Given the description of an element on the screen output the (x, y) to click on. 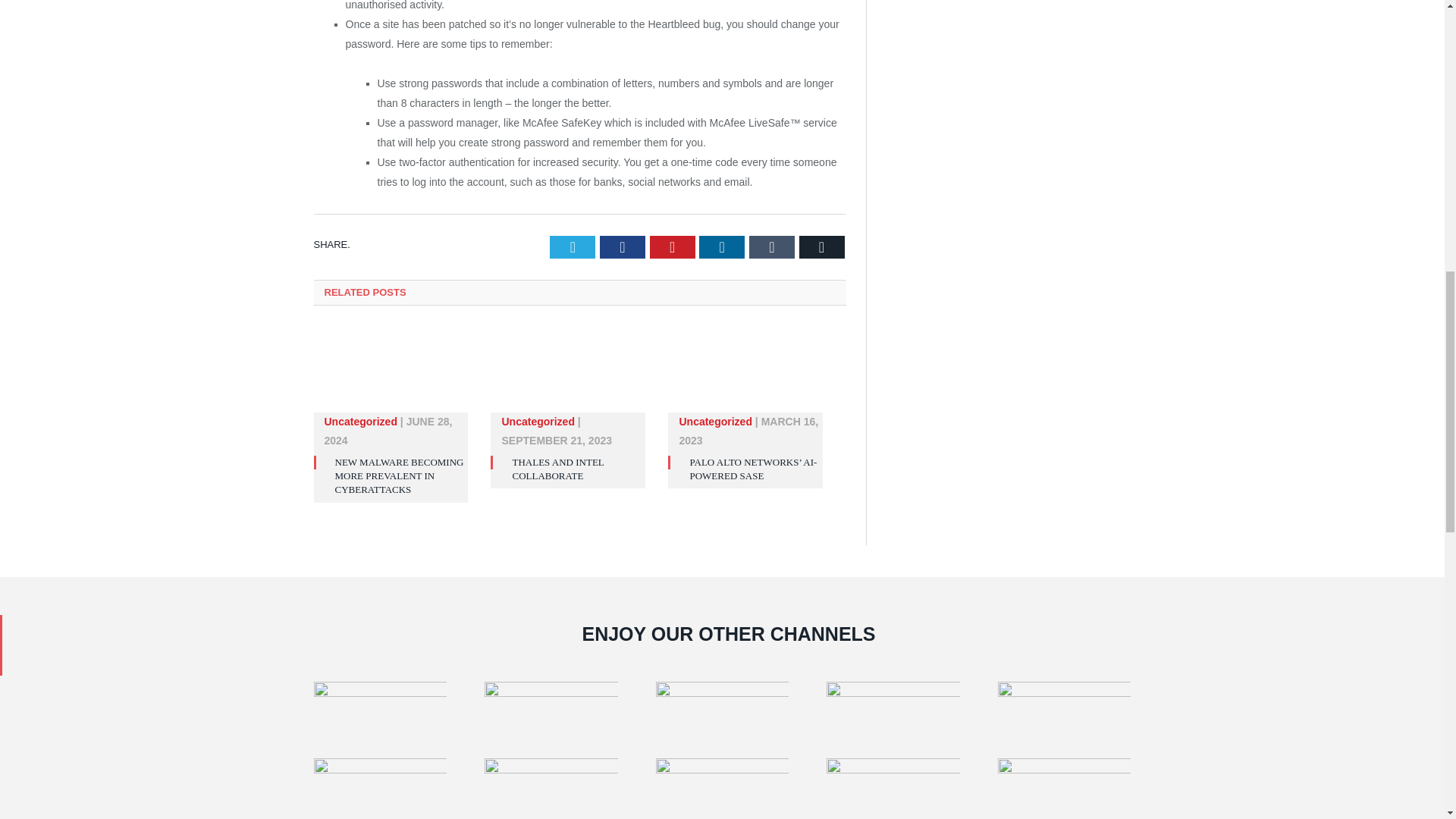
Thales and Intel Collaborate (558, 468)
New Malware Becoming More Prevalent in Cyberattacks (399, 475)
New Malware Becoming More Prevalent in Cyberattacks (391, 376)
Thales and Intel Collaborate (567, 376)
